Given the description of an element on the screen output the (x, y) to click on. 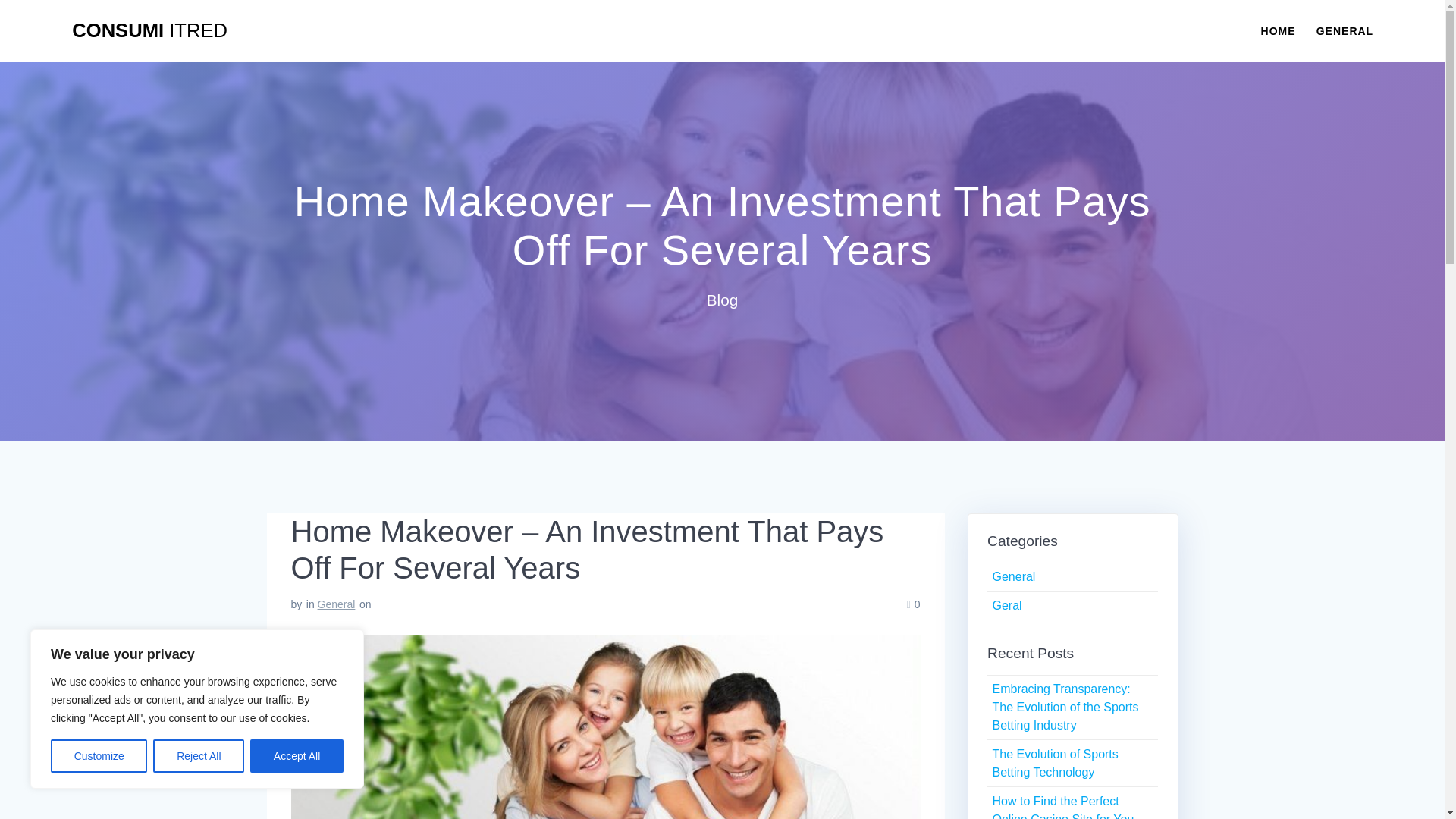
Geral (1006, 604)
Accept All (296, 756)
GENERAL (1344, 30)
HOME (1277, 30)
How to Find the Perfect Online Casino Site for You (1062, 806)
Reject All (198, 756)
General (336, 604)
The Evolution of Sports Betting Technology (1054, 762)
General (1013, 576)
CONSUMI ITRED (149, 30)
Customize (98, 756)
